Given the description of an element on the screen output the (x, y) to click on. 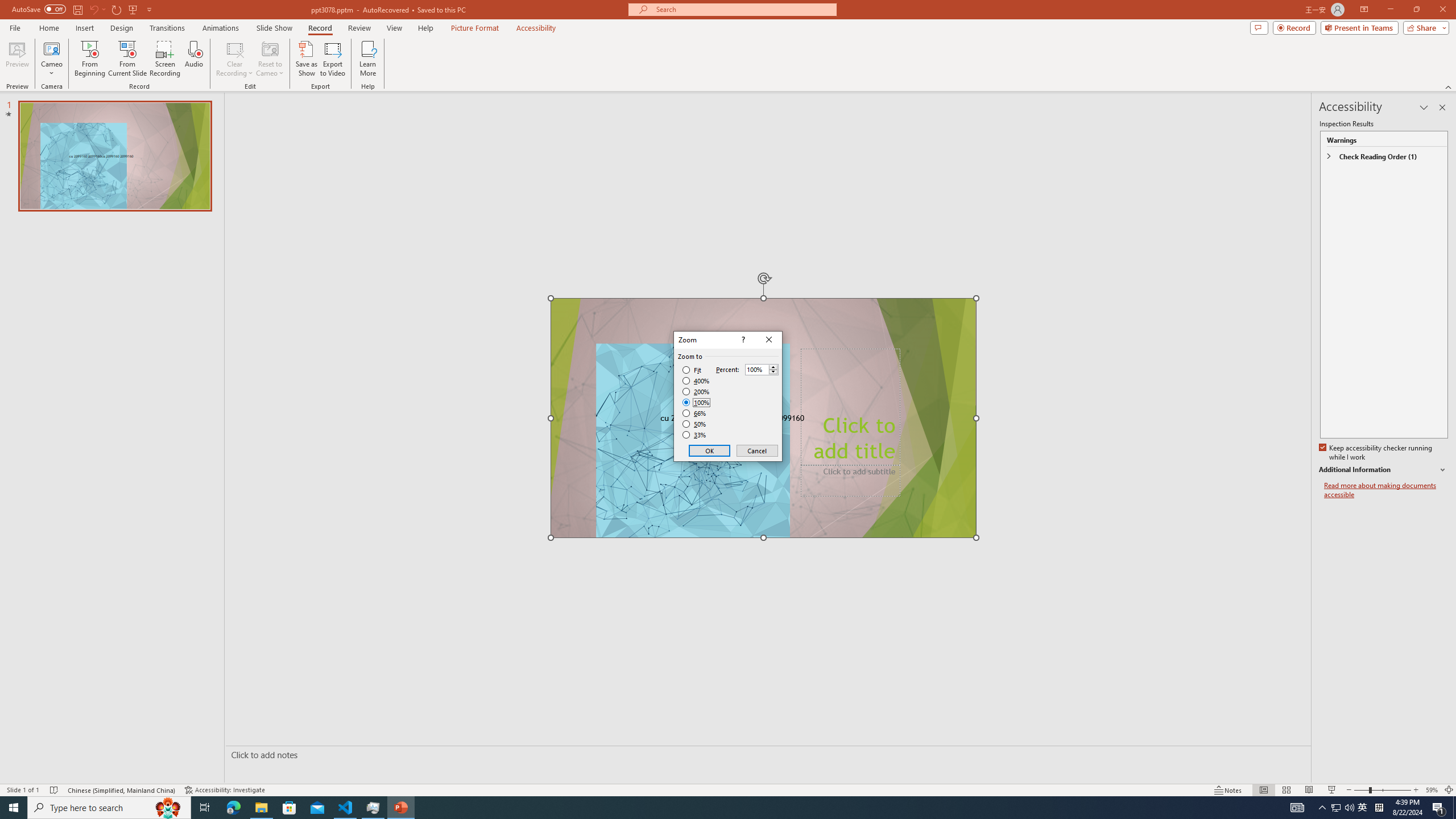
Task Manager - 1 running window (373, 807)
Percent (756, 369)
